Given the description of an element on the screen output the (x, y) to click on. 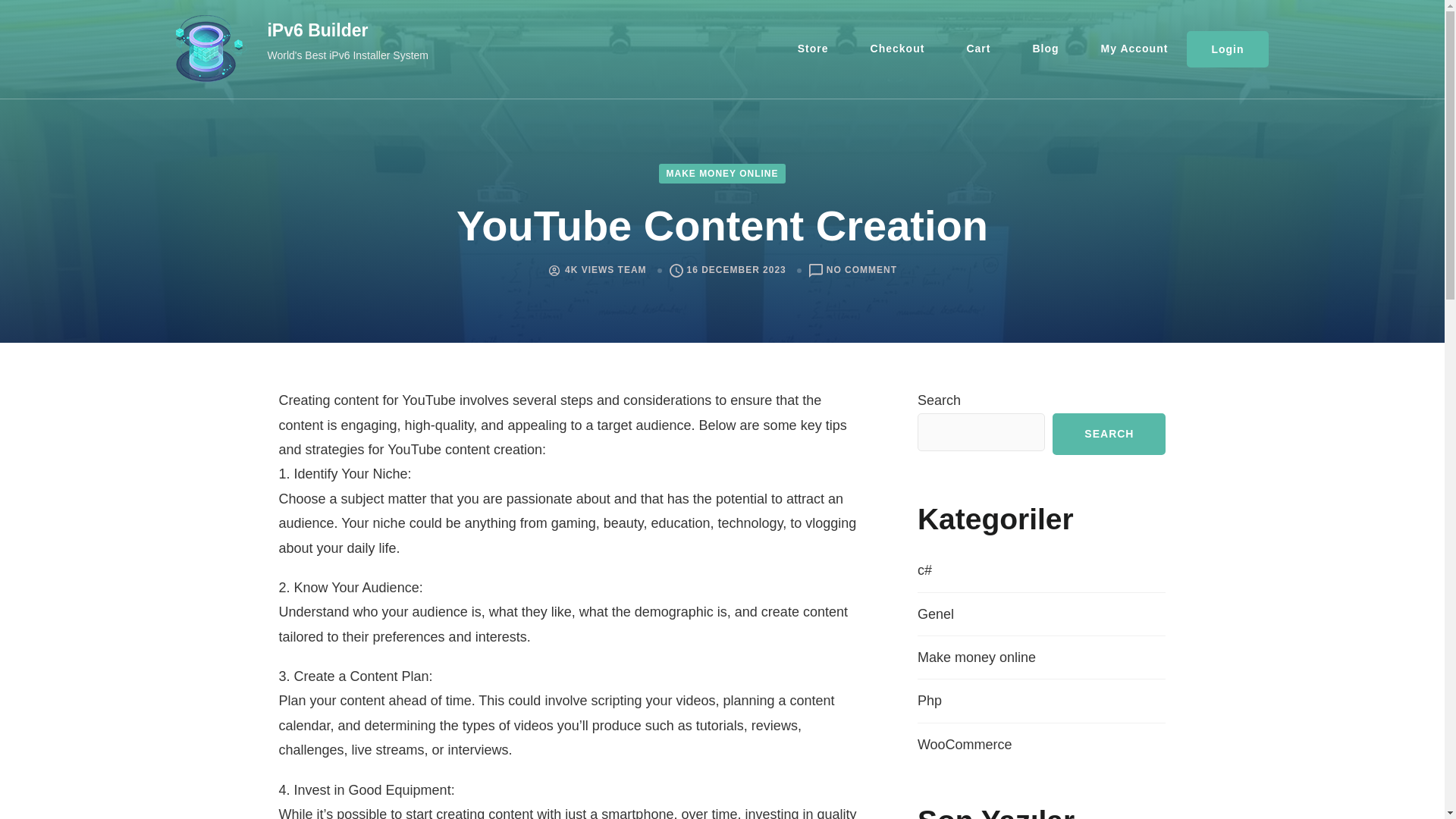
4K VIEWS TEAM (605, 270)
iPv6 Builder (317, 30)
Genel (935, 613)
SEARCH (1109, 434)
16 DECEMBER 2023 (736, 270)
Cart (978, 48)
WooCommerce (964, 744)
My Account (1134, 48)
Blog (1045, 48)
Make money online (976, 657)
Login (1227, 49)
Php (929, 700)
Store (812, 48)
MAKE MONEY ONLINE (722, 173)
